Given the description of an element on the screen output the (x, y) to click on. 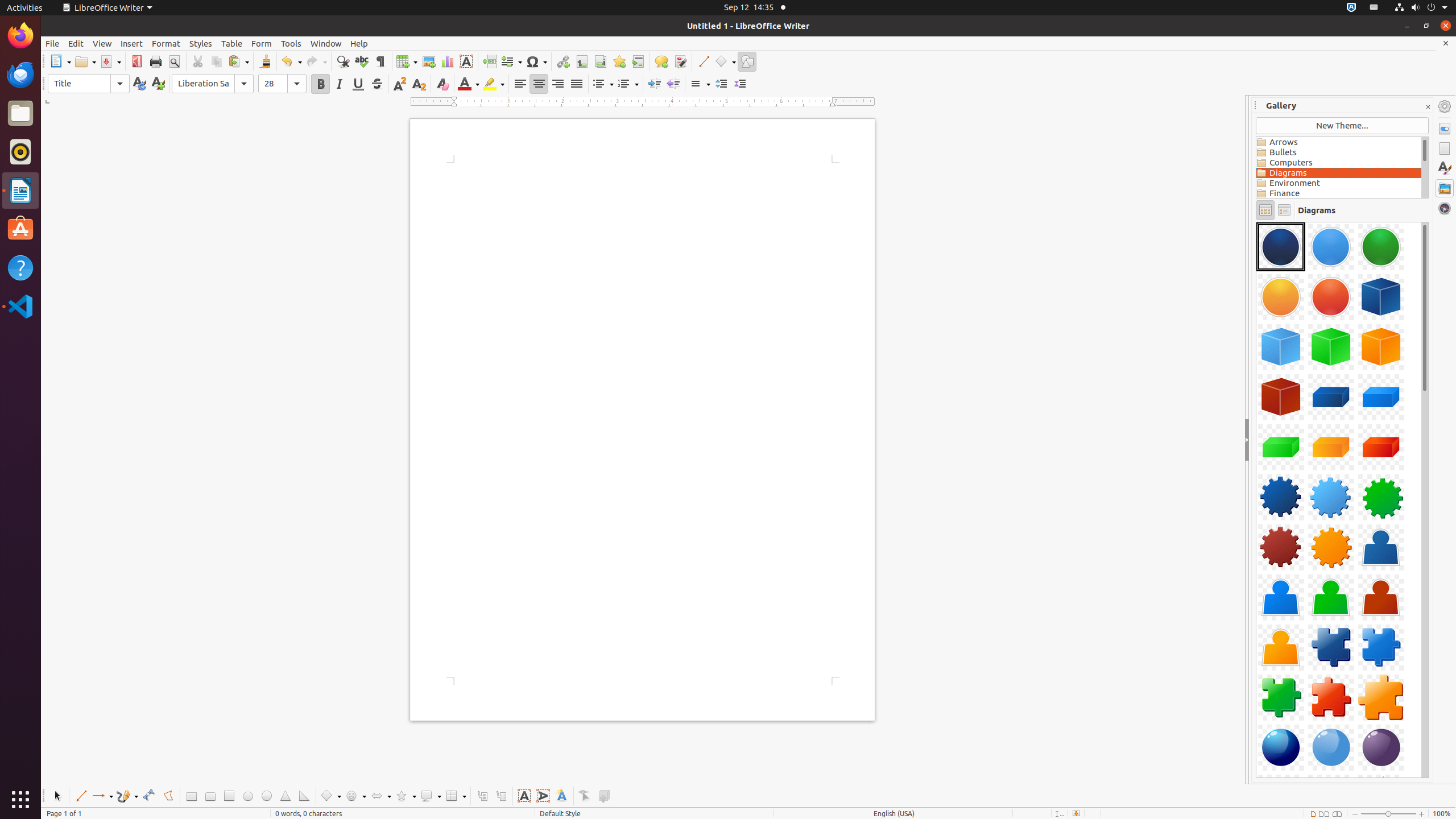
Basic Shapes Element type: push-button (329, 795)
Callouts Element type: push-button (481, 795)
Component-Person03-Green Element type: list-item (1330, 596)
Page Element type: radio-button (1444, 148)
Component-Circle04-Transparent-Orange Element type: list-item (1280, 296)
